Given the description of an element on the screen output the (x, y) to click on. 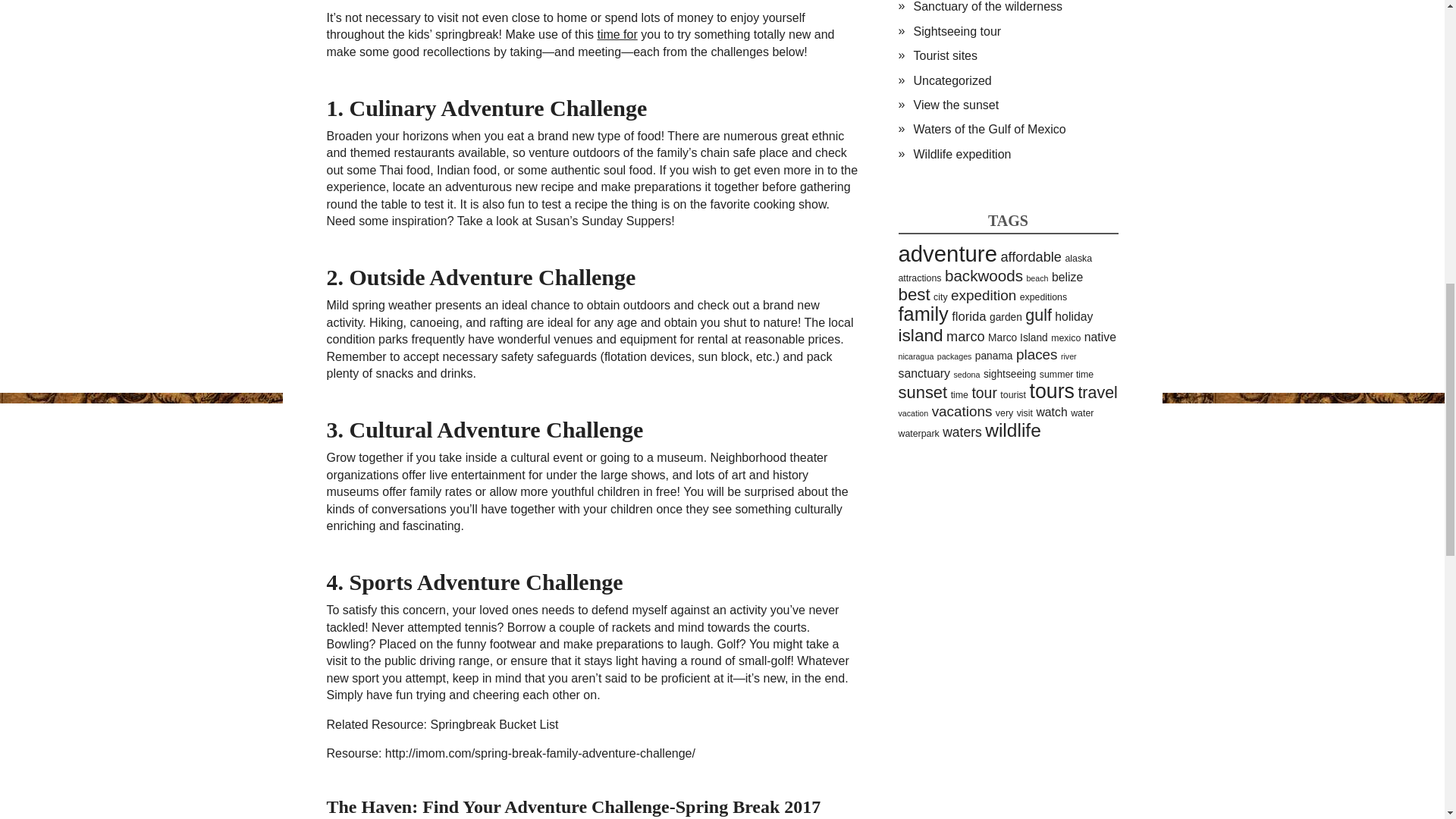
time for (616, 33)
